Given the description of an element on the screen output the (x, y) to click on. 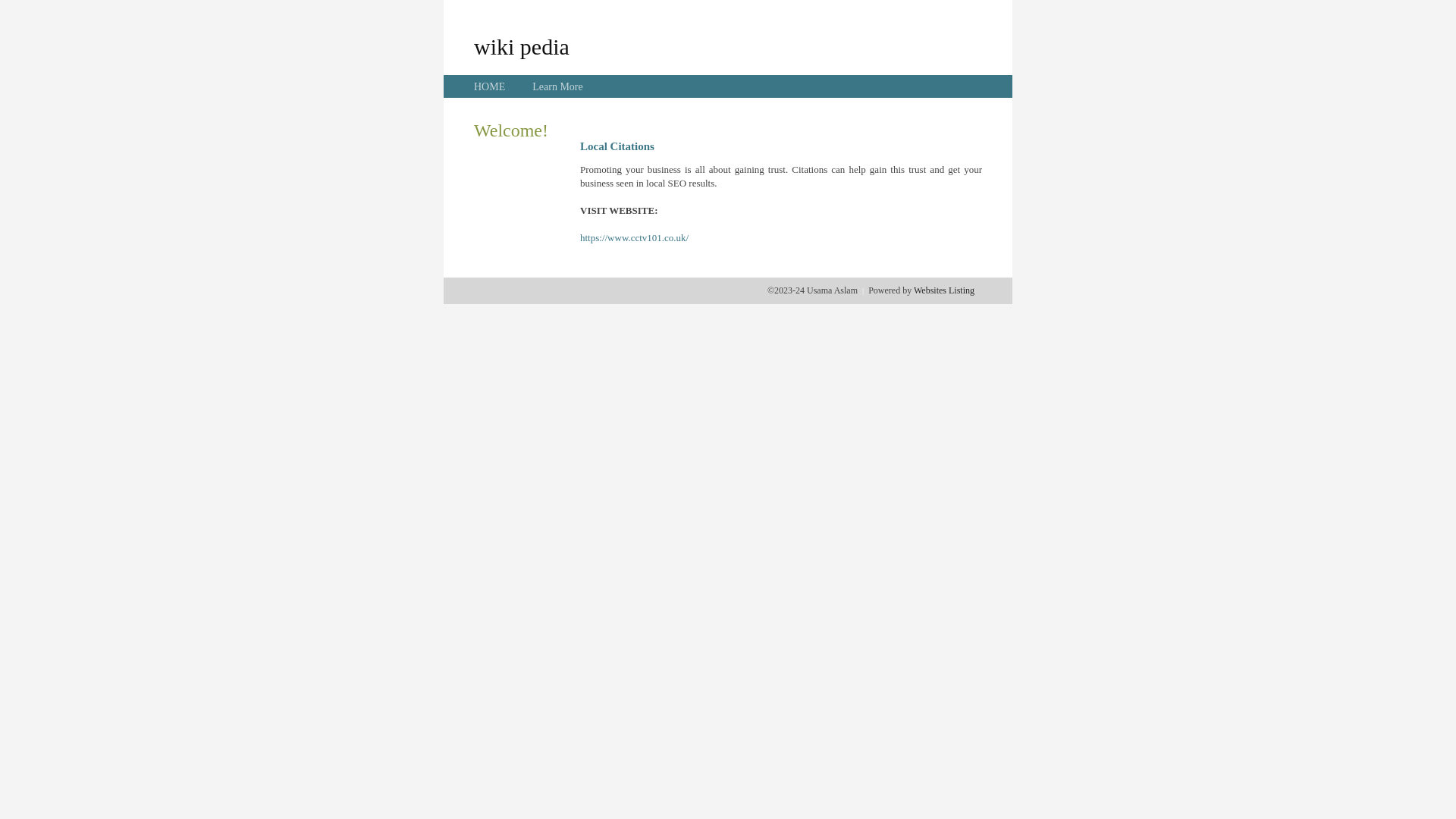
Websites Listing Element type: text (943, 290)
Learn More Element type: text (557, 86)
https://www.cctv101.co.uk/ Element type: text (634, 237)
wiki pedia Element type: text (521, 46)
HOME Element type: text (489, 86)
